Given the description of an element on the screen output the (x, y) to click on. 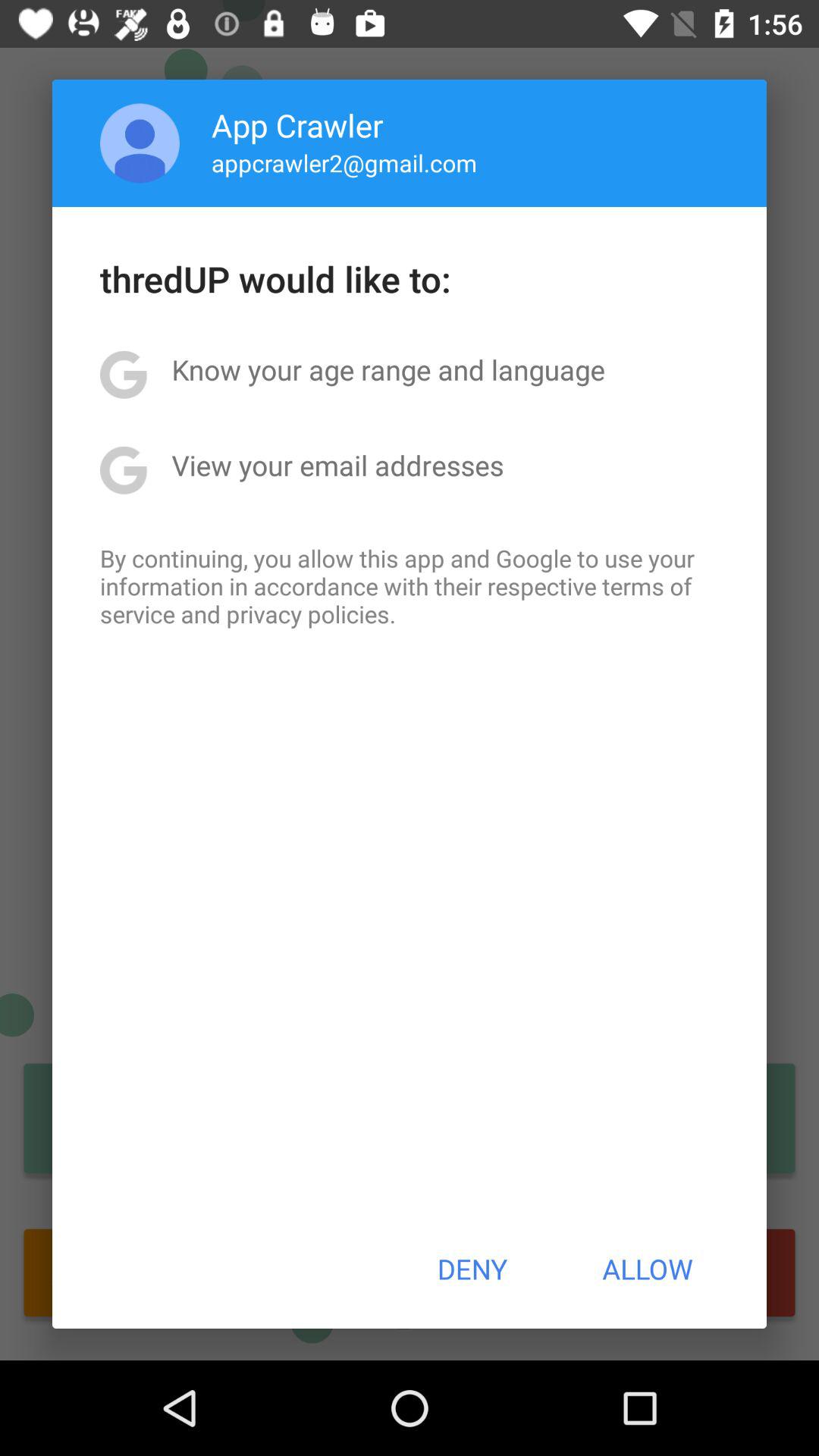
turn on the view your email app (337, 465)
